Given the description of an element on the screen output the (x, y) to click on. 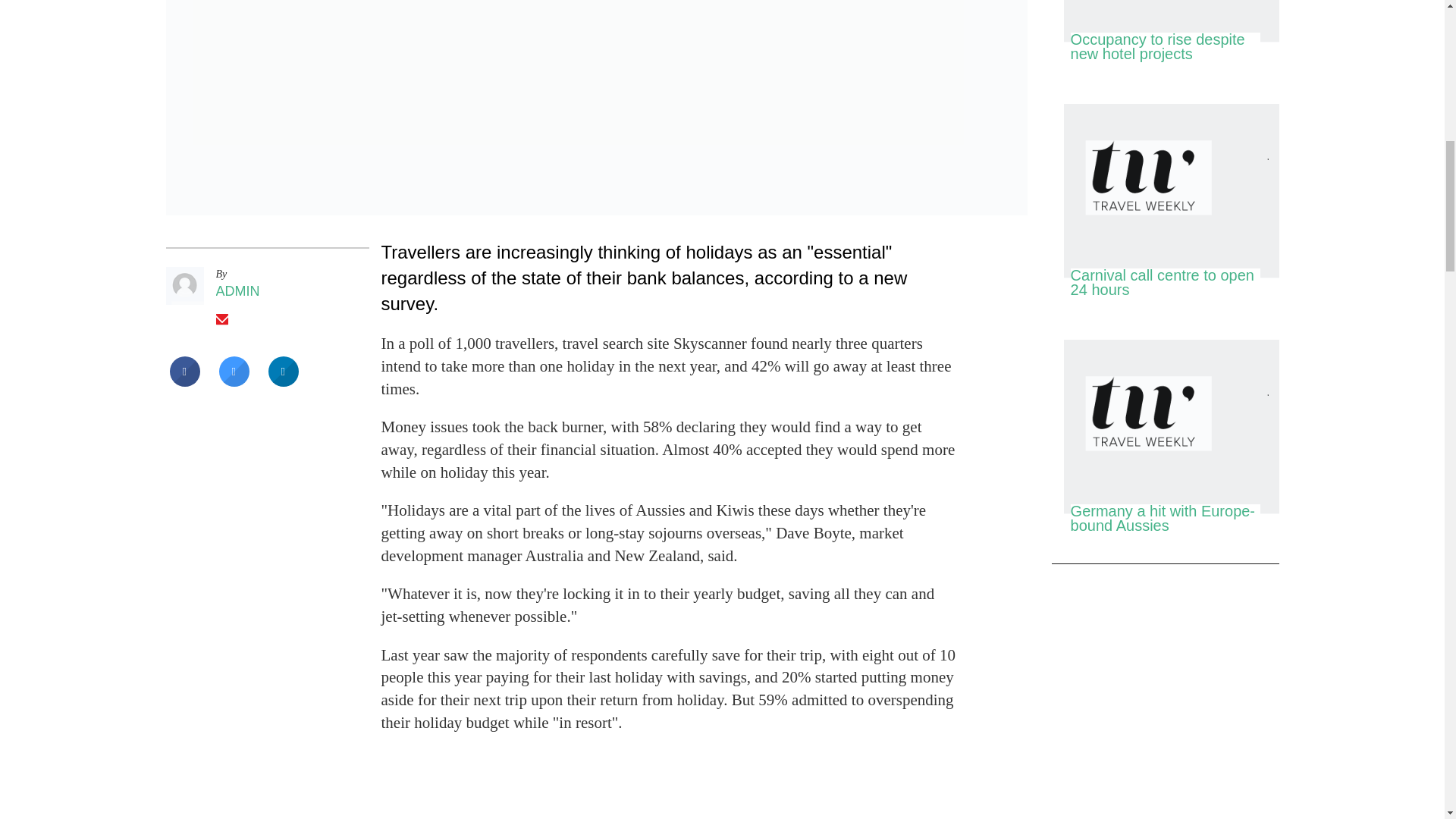
Share to LinkedIn (282, 382)
Share on Twitter (233, 382)
Share on Facebook (185, 382)
